Given the description of an element on the screen output the (x, y) to click on. 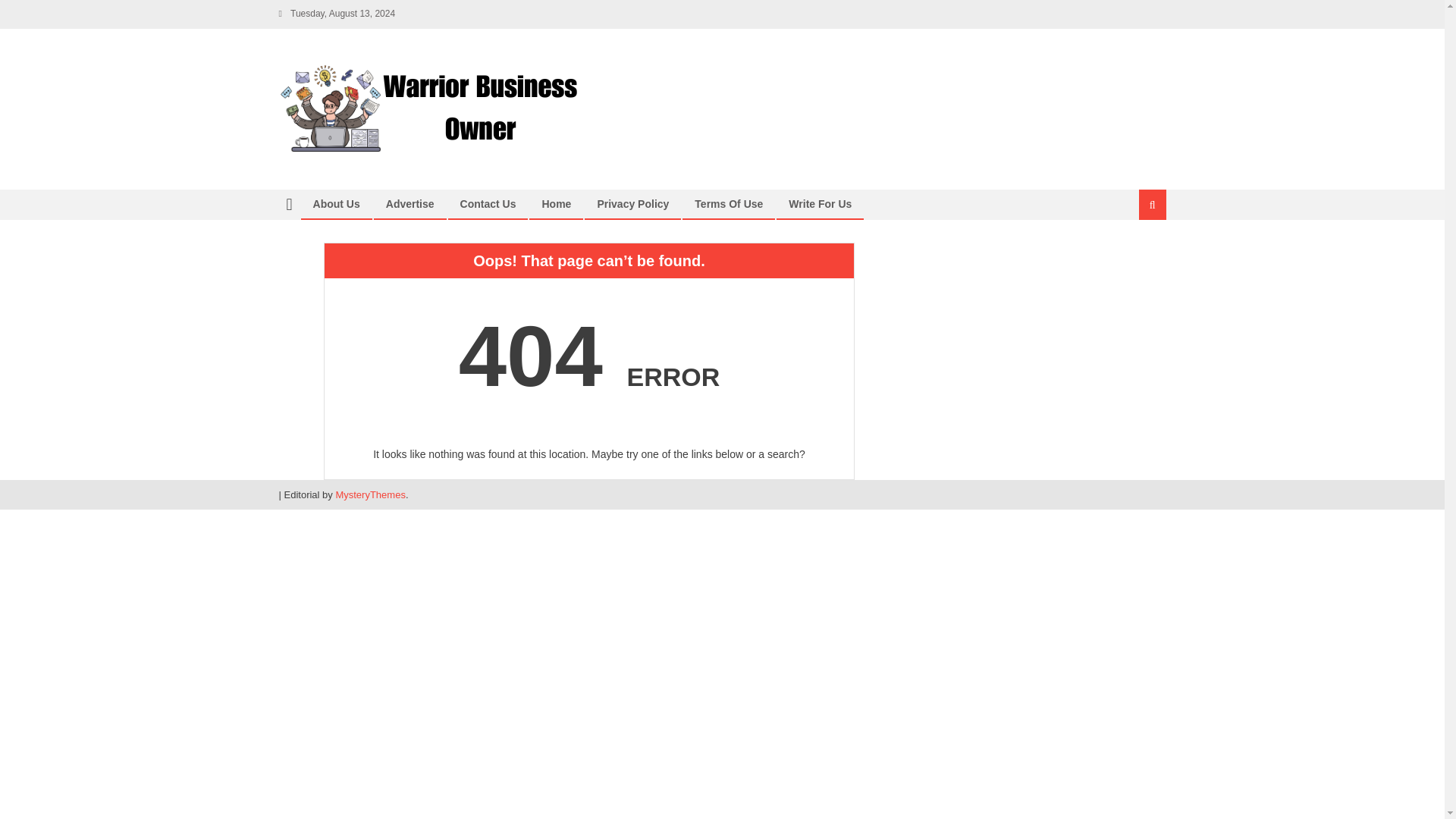
Write For Us (820, 203)
Home (555, 203)
About Us (336, 203)
Search (1133, 255)
Contact Us (487, 203)
Privacy Policy (632, 203)
MysteryThemes (369, 494)
Advertise (409, 203)
Terms Of Use (728, 203)
